Given the description of an element on the screen output the (x, y) to click on. 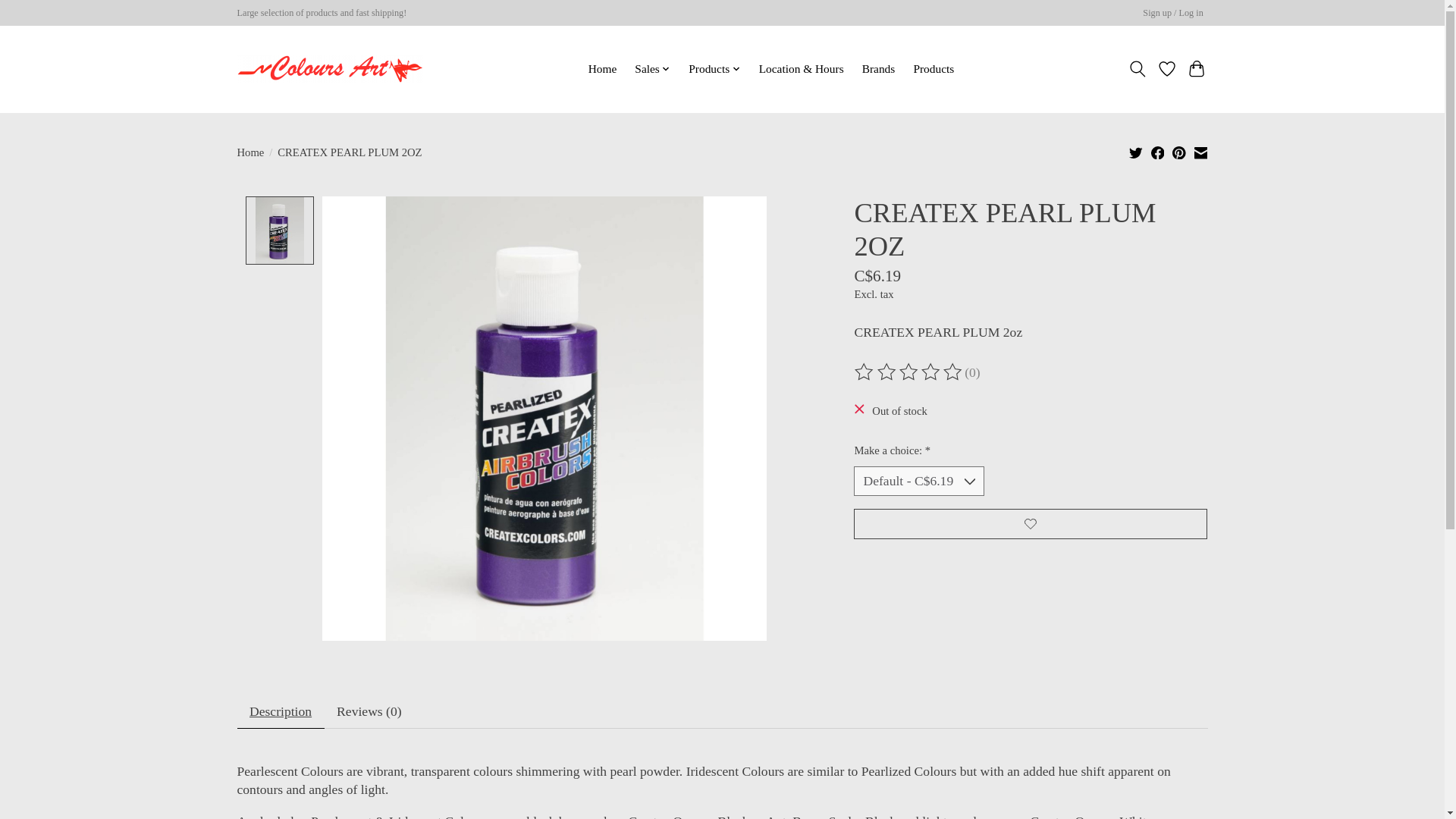
Colours Artist Supplies (328, 69)
My account (1173, 13)
Share on Facebook (1157, 151)
Products (713, 68)
Sales (651, 68)
Share on Pinterest (1178, 151)
Home (601, 68)
Share on Twitter (1135, 151)
Share by Email (1200, 151)
